Given the description of an element on the screen output the (x, y) to click on. 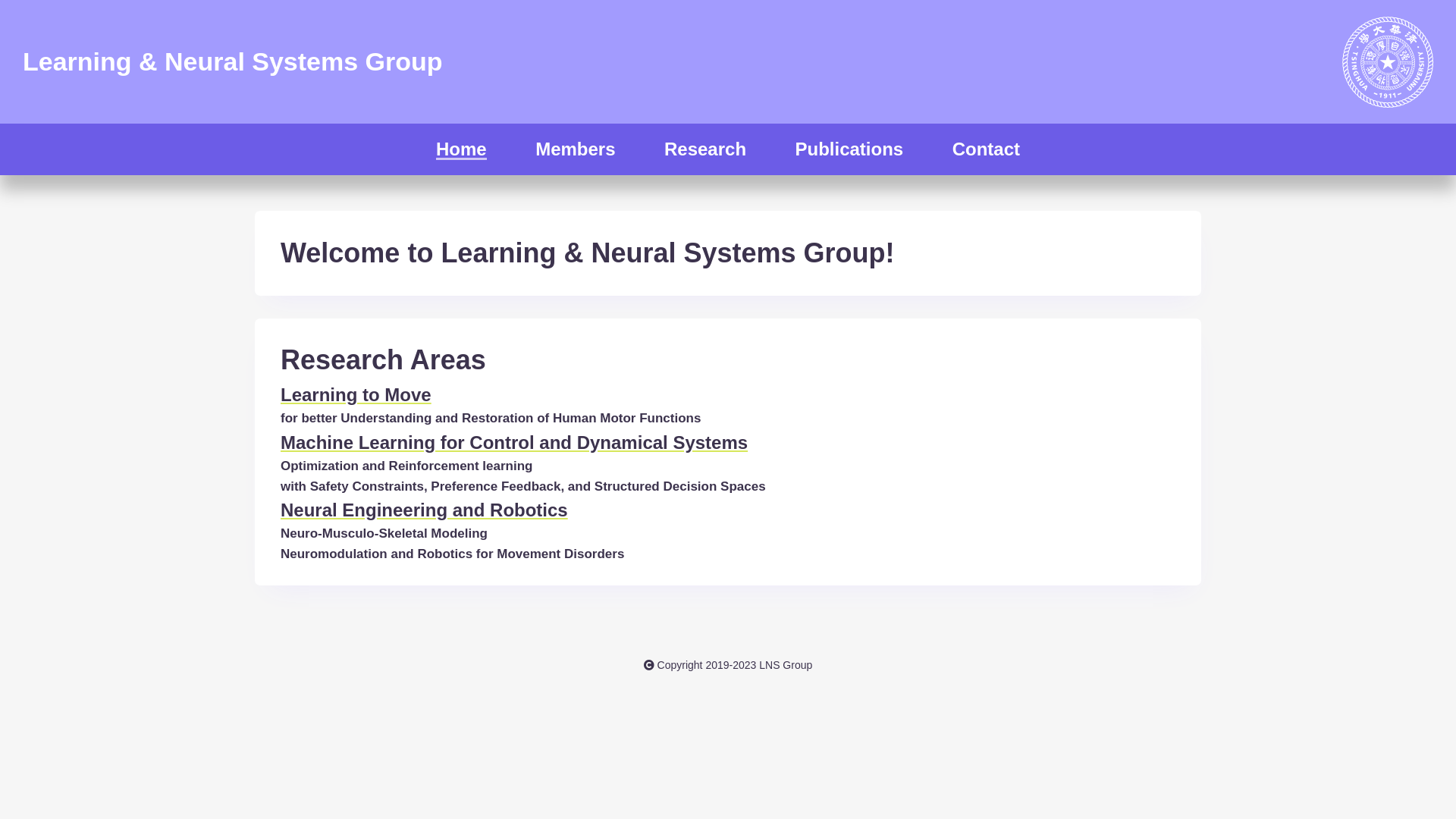
Publications Element type: text (848, 150)
Research Element type: text (704, 150)
Contact Element type: text (985, 150)
1 Element type: text (25, 6)
Home Element type: text (461, 150)
Members Element type: text (574, 150)
